Given the description of an element on the screen output the (x, y) to click on. 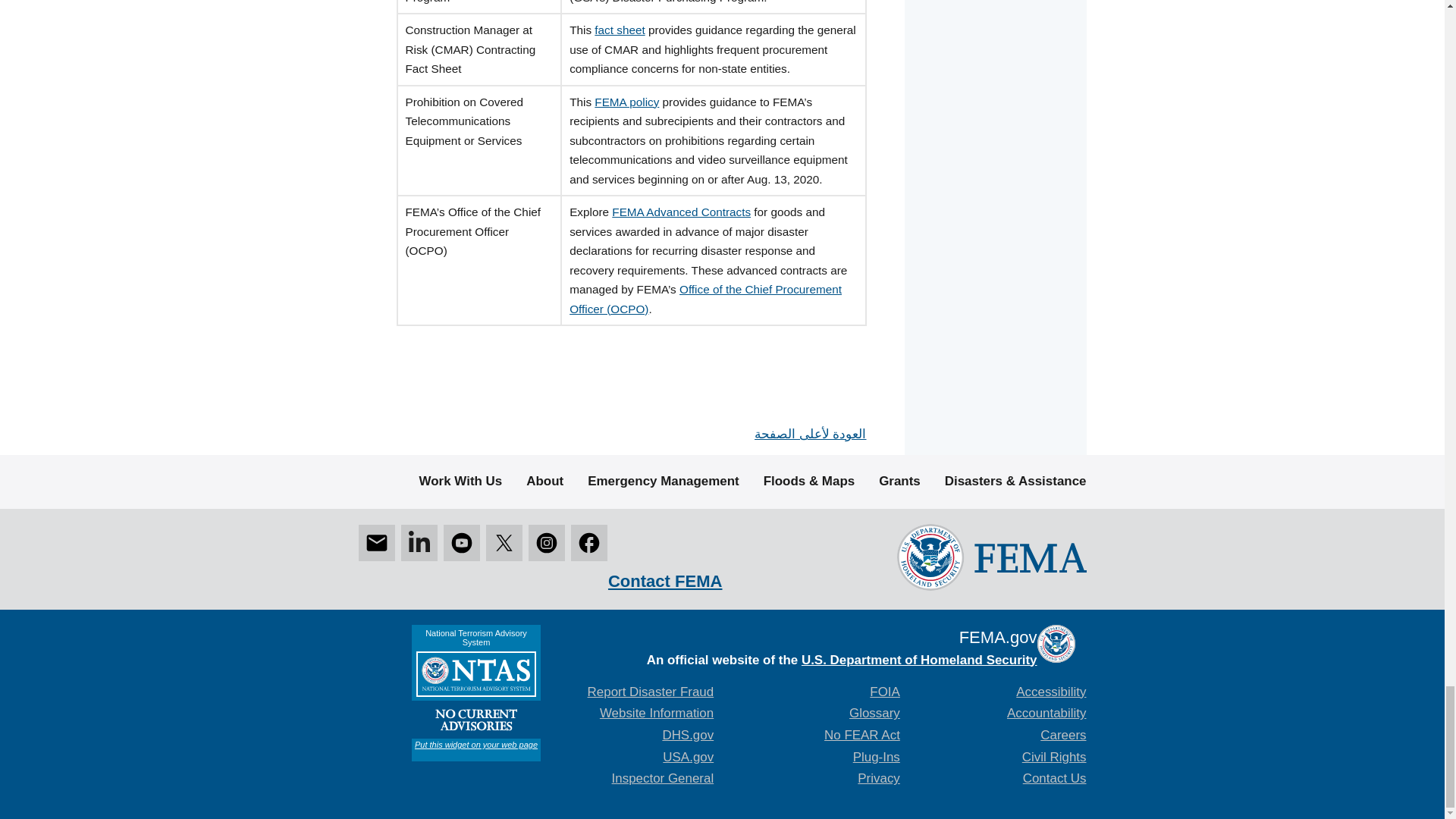
National Terrorism Advisory System (475, 692)
FEMA logo (991, 557)
